Given the description of an element on the screen output the (x, y) to click on. 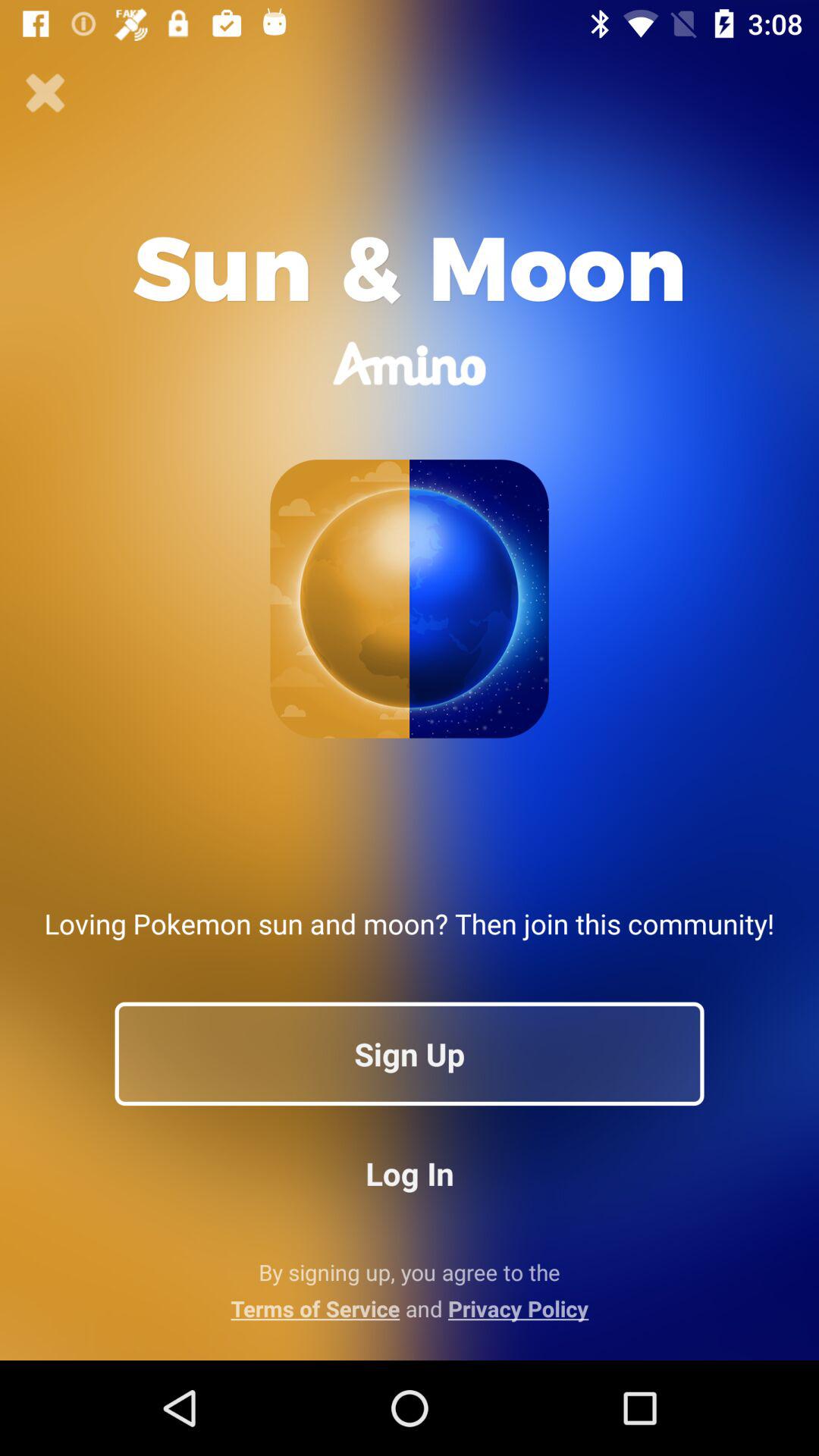
cancel button (45, 93)
